Given the description of an element on the screen output the (x, y) to click on. 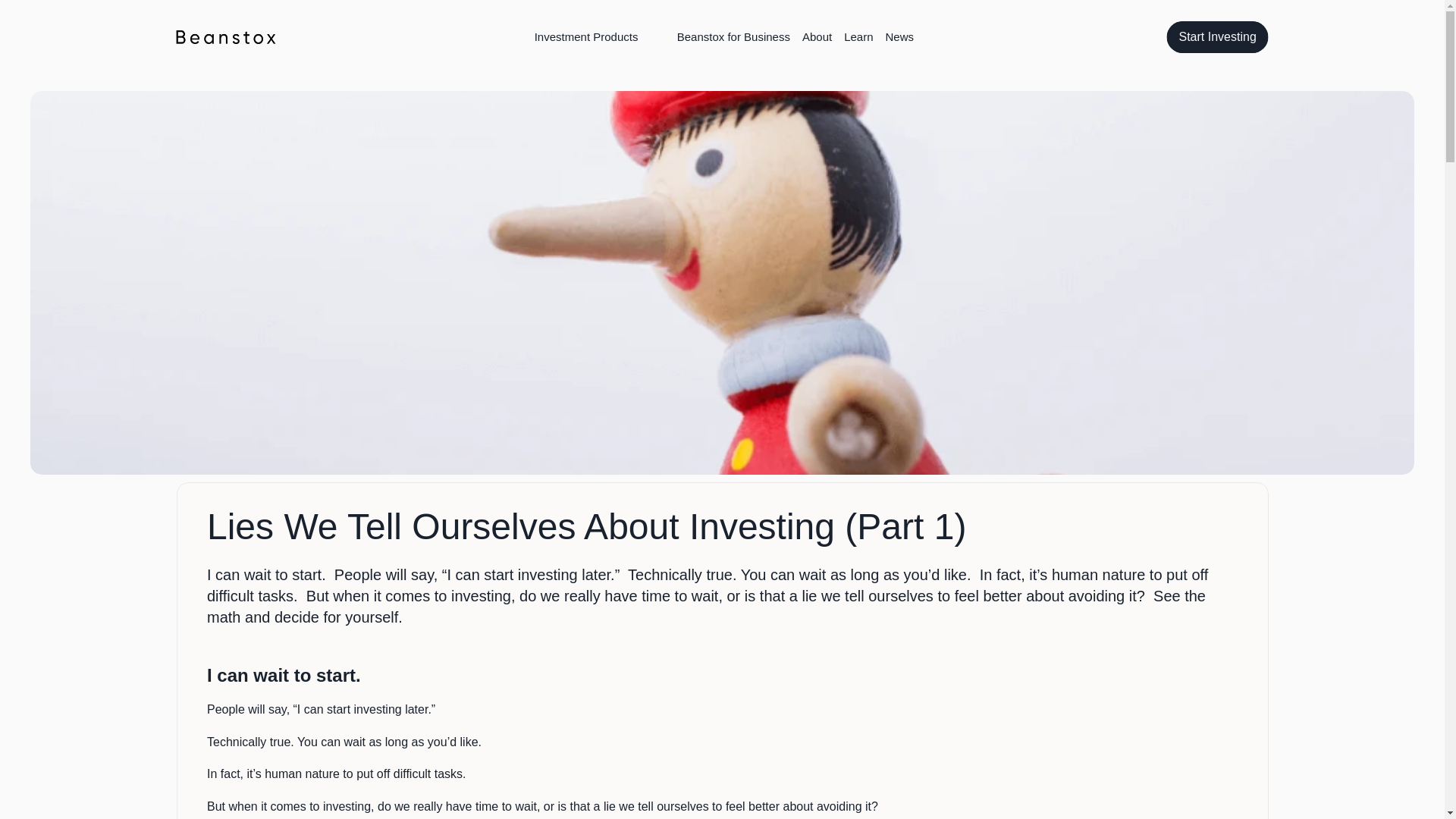
Start Investing (1217, 37)
News (899, 36)
About (816, 36)
Learn (858, 36)
Beanstox for Business (733, 36)
